Given the description of an element on the screen output the (x, y) to click on. 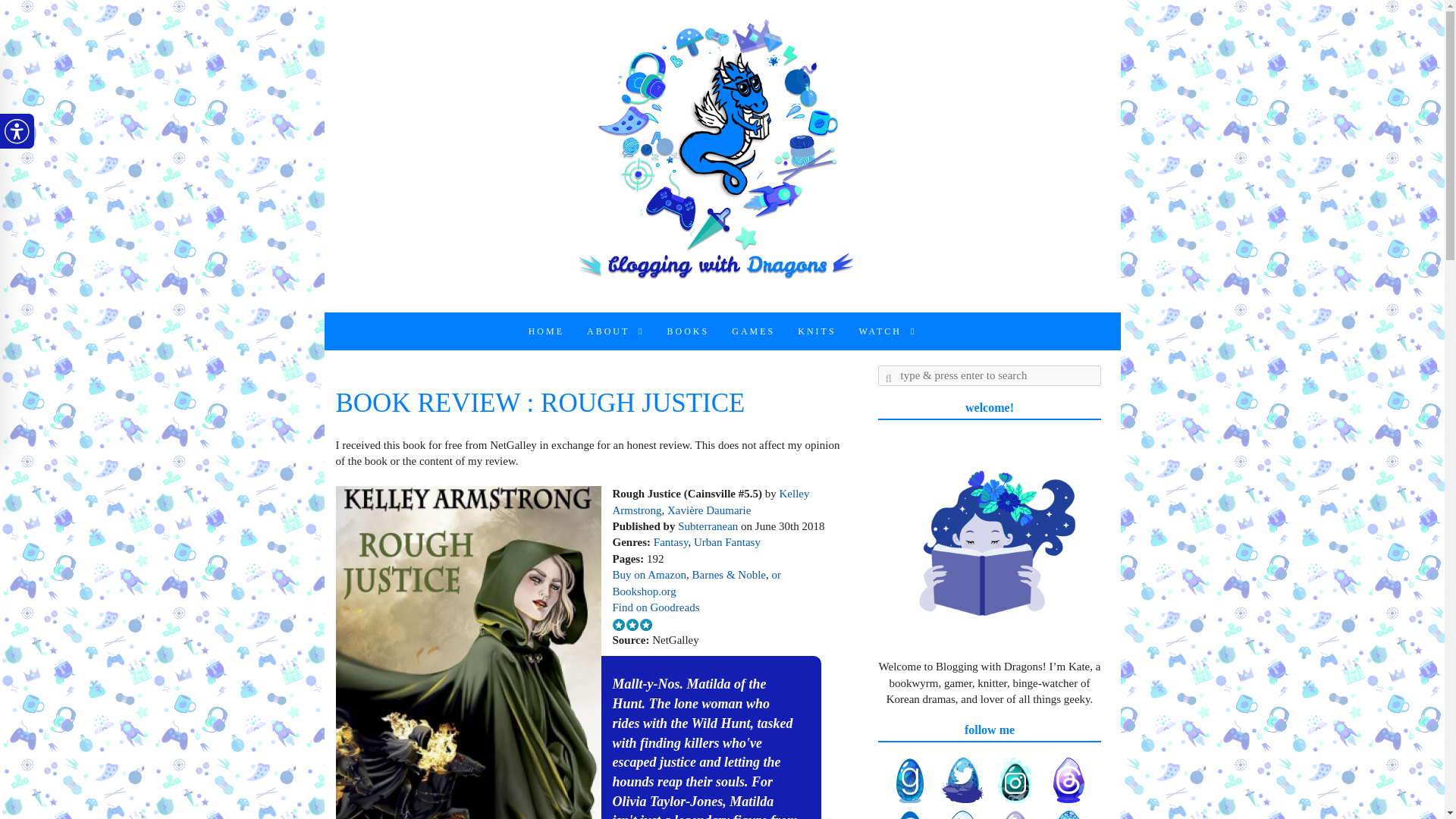
KNITS (816, 331)
Urban Fantasy (727, 541)
WATCH   (887, 331)
BOOKS (688, 331)
ABOUT   (615, 331)
Subterranean (708, 526)
Books (688, 331)
GAMES (753, 331)
Find on Goodreads (656, 607)
or Bookshop.org (696, 582)
Kelley Armstrong (710, 501)
HOME (545, 331)
Buy on Amazon (649, 574)
Fantasy (670, 541)
